Given the description of an element on the screen output the (x, y) to click on. 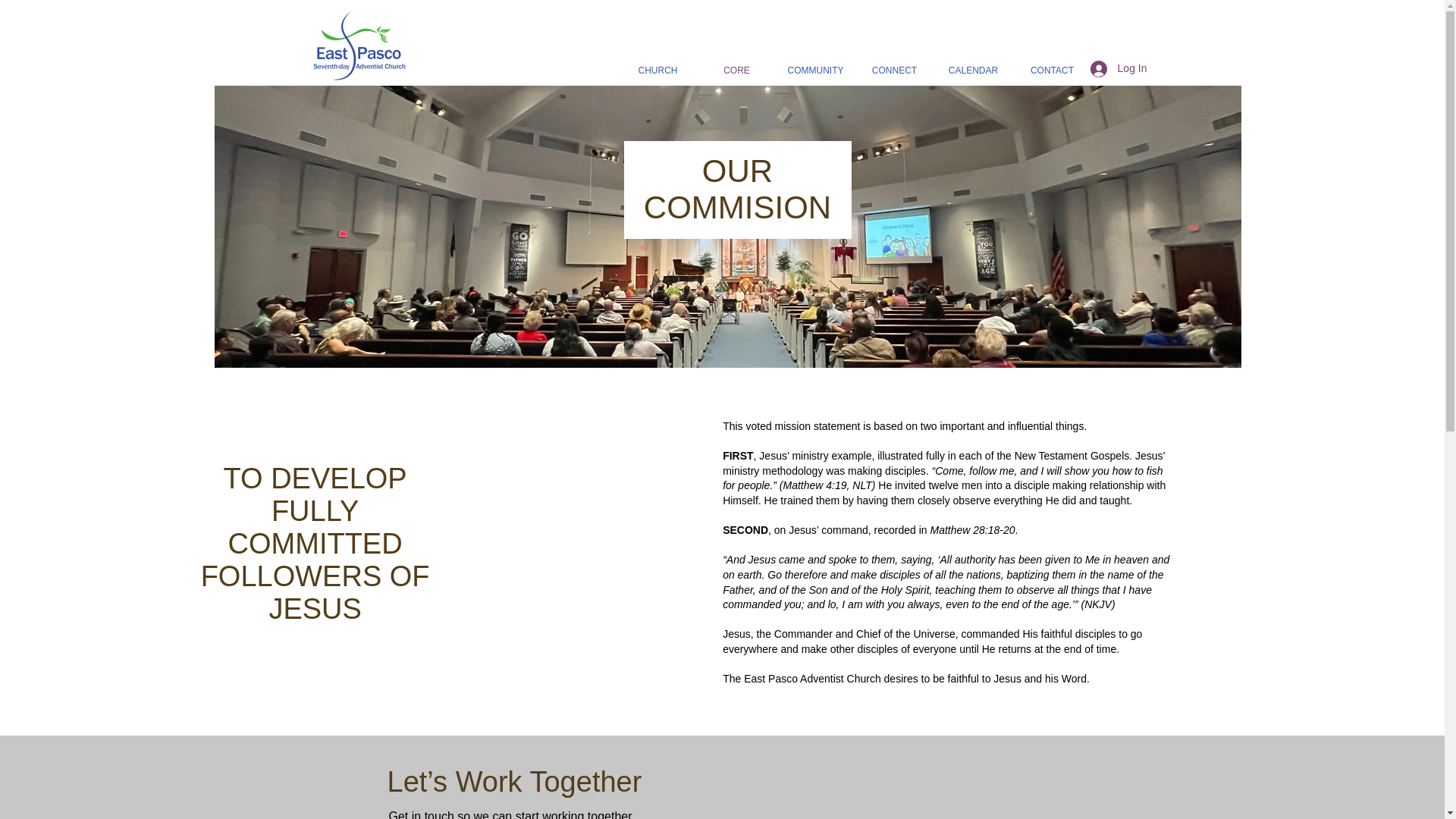
Log In (1118, 68)
CHURCH (657, 70)
CONNECT (895, 70)
CALENDAR (973, 70)
COMMUNITY (816, 70)
CONTACT (1052, 70)
CORE (736, 70)
